Given the description of an element on the screen output the (x, y) to click on. 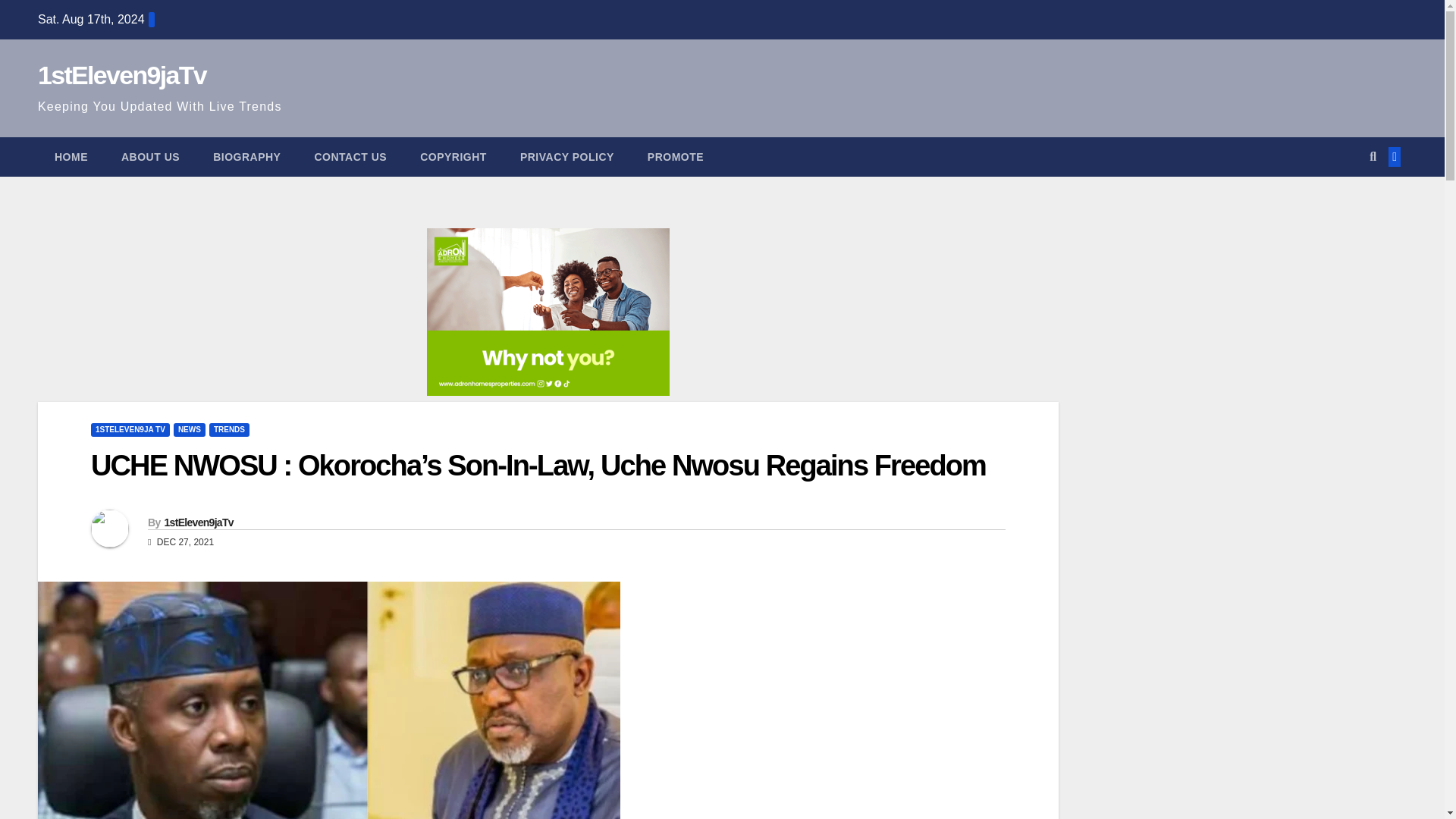
PROMOTE (675, 156)
CONTACT US (350, 156)
1STELEVEN9JA TV (130, 429)
BIOGRAPHY (246, 156)
1stEleven9jaTv (121, 74)
Home (70, 156)
TRENDS (228, 429)
PRIVACY POLICY (566, 156)
1stEleven9jaTv (197, 522)
HOME (70, 156)
